Given the description of an element on the screen output the (x, y) to click on. 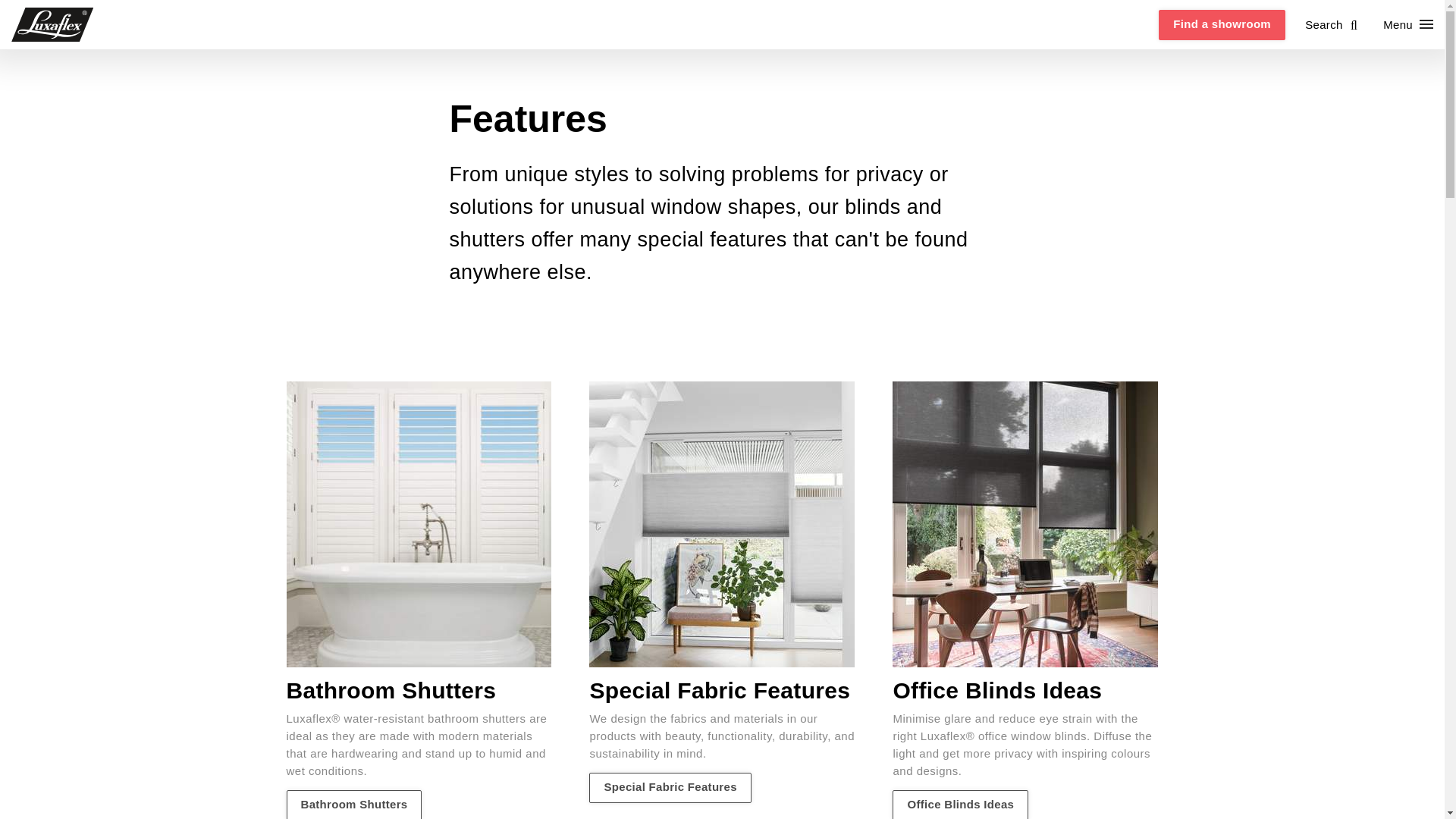
Luxaflex (52, 24)
Go to the homepage (52, 24)
Find a showroom (1221, 24)
